Given the description of an element on the screen output the (x, y) to click on. 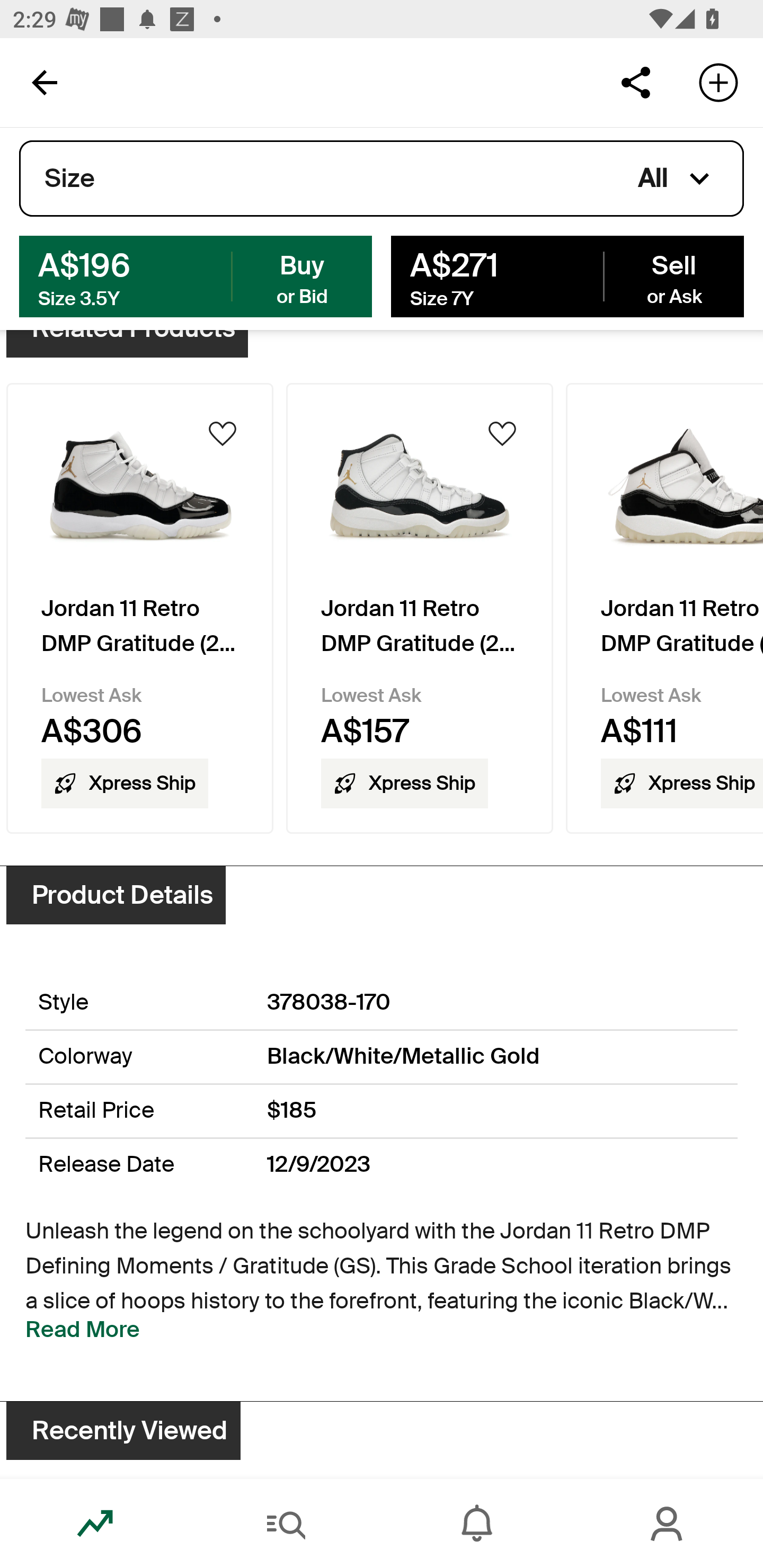
Share (635, 81)
Add (718, 81)
Size All (381, 178)
A$210 Buy Size 4.5 or Bid (195, 275)
A$407 Sell Size 14 or Ask (566, 275)
Read More (82, 1329)
Search (285, 1523)
Inbox (476, 1523)
Account (667, 1523)
